Given the description of an element on the screen output the (x, y) to click on. 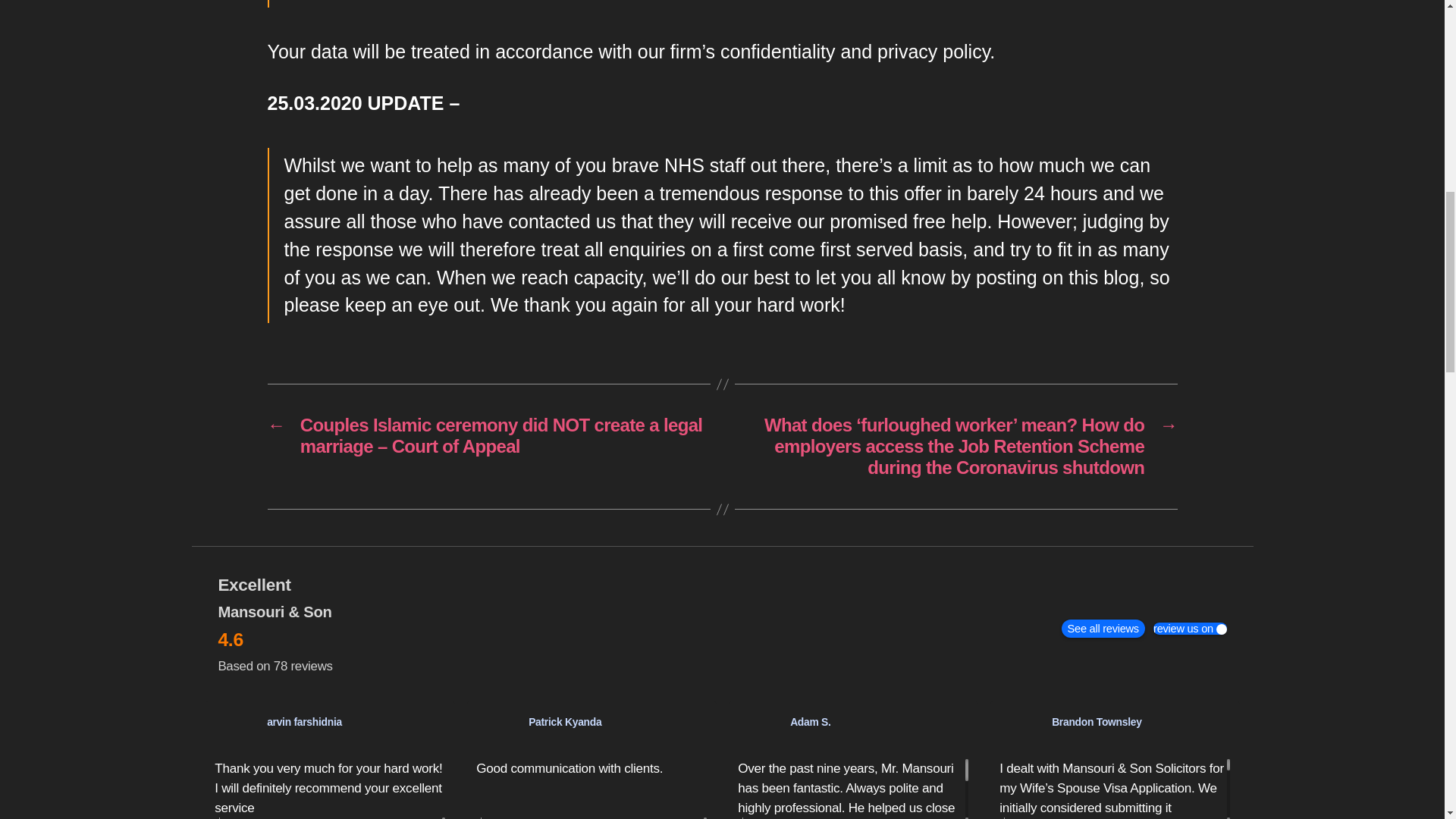
Adam S. (810, 721)
See all reviews (1102, 628)
arvin farshidnia (304, 721)
Patrick Kyanda (617, 721)
Brandon Townsley (1096, 721)
Brandon Townsley (1140, 721)
arvin farshidnia (235, 731)
Patrick Kyanda (497, 731)
Good communication with clients. (591, 788)
Brandon Townsley (1020, 731)
arvin farshidnia (355, 721)
Patrick Kyanda (564, 721)
